Given the description of an element on the screen output the (x, y) to click on. 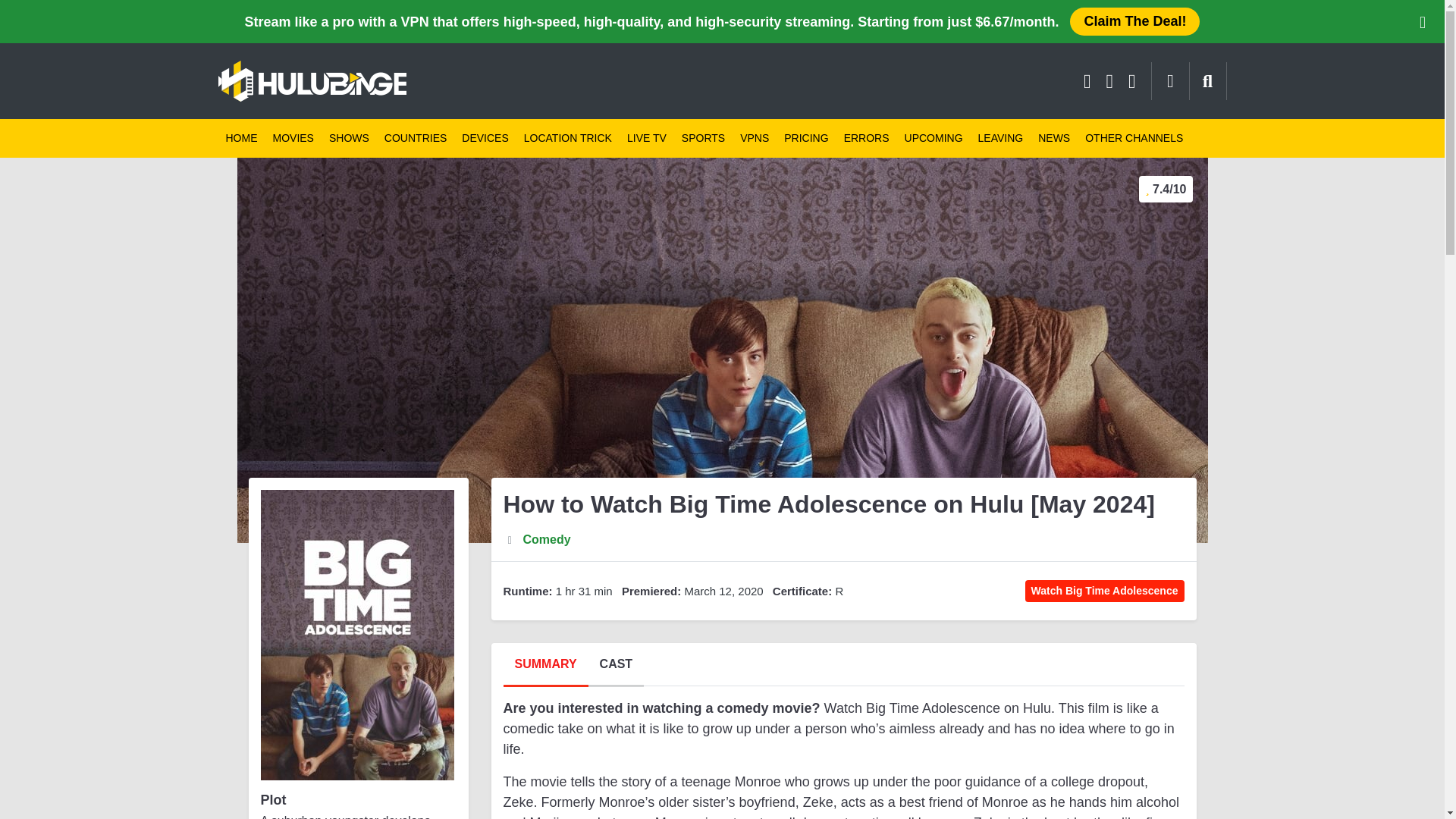
LEAVING (1000, 138)
SUMMARY (545, 670)
SPORTS (703, 138)
ERRORS (865, 138)
HOME (241, 138)
NEWS (1053, 138)
LIVE TV (647, 138)
Subscribe What's on Hulubinge (1170, 80)
DEVICES (484, 138)
CAST (616, 670)
